Given the description of an element on the screen output the (x, y) to click on. 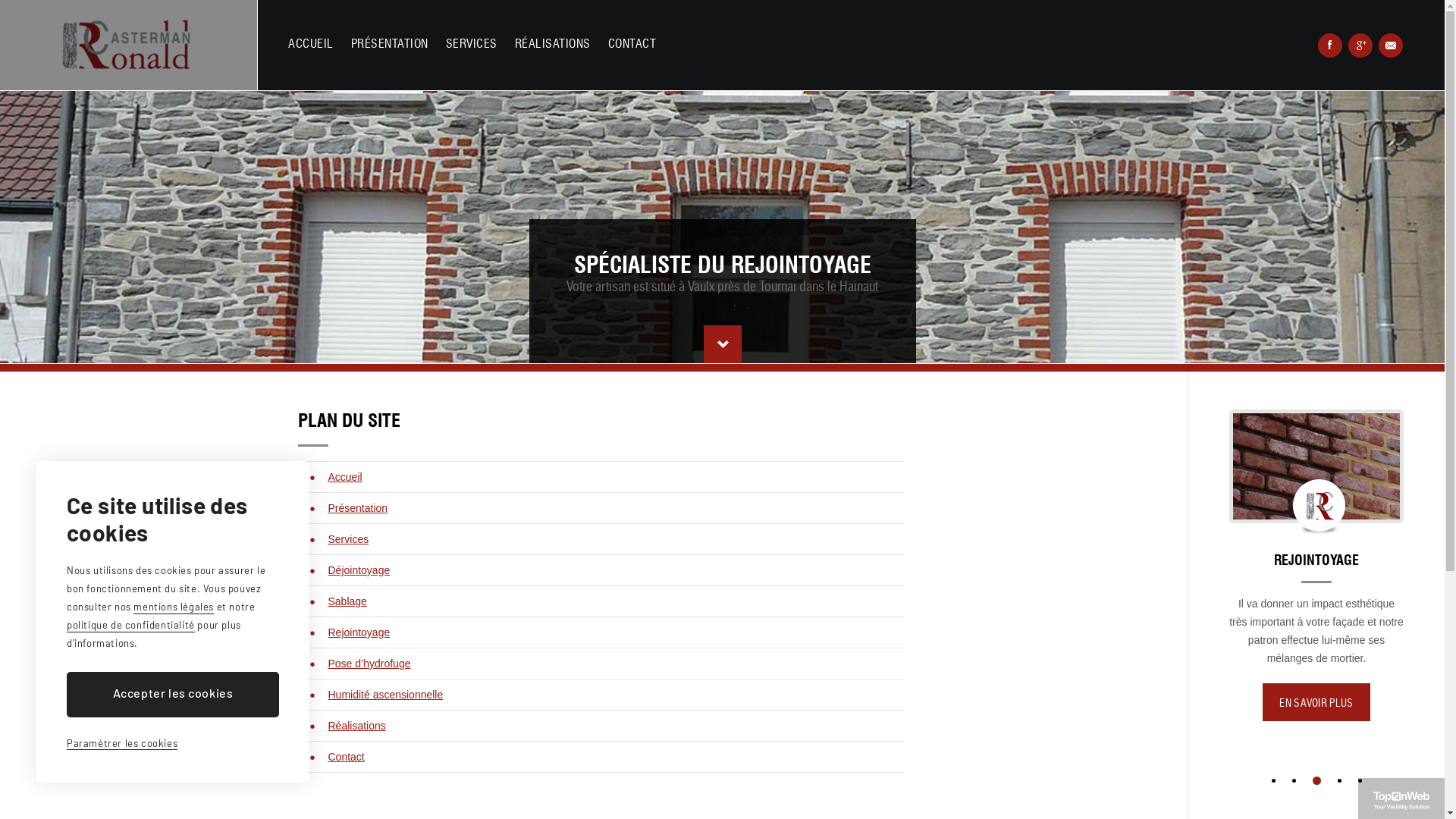
EN SAVOIR PLUS Element type: text (1315, 720)
1 Element type: text (1272, 779)
4 Element type: text (1339, 779)
Rejointoyage Element type: text (358, 632)
Casterman Ronald Element type: hover (128, 45)
SERVICES Element type: text (471, 44)
5 Element type: text (1359, 779)
Accueil Element type: text (344, 476)
Contact Element type: text (345, 756)
Rejoignez-nous sur Facebook ! Element type: hover (1329, 45)
ACCUEIL Element type: text (310, 44)
CONTACT Element type: text (632, 44)
Rejoignez-nous sur Google+ ! Element type: hover (1360, 45)
3 Element type: text (1318, 779)
Sablage Element type: text (346, 601)
Services Element type: text (347, 539)
casterman.ronald@gmail.com Element type: hover (1390, 45)
Toponweb Element type: hover (1401, 800)
2 Element type: text (1296, 780)
